Given the description of an element on the screen output the (x, y) to click on. 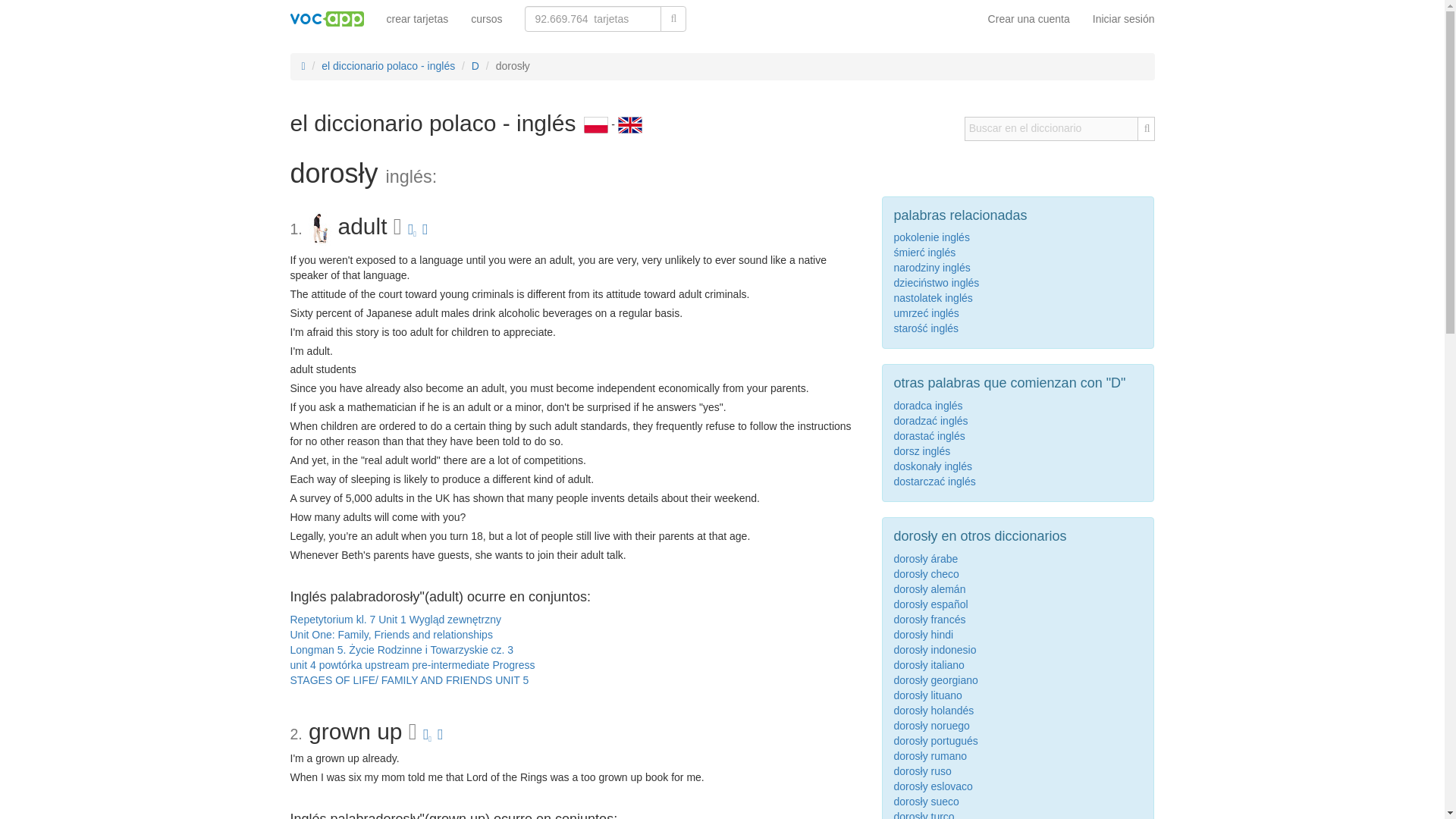
crear tarjetas (417, 18)
Unit One: Family, Friends and relationships (390, 634)
Crear una cuenta (1028, 18)
cursos (486, 18)
